Given the description of an element on the screen output the (x, y) to click on. 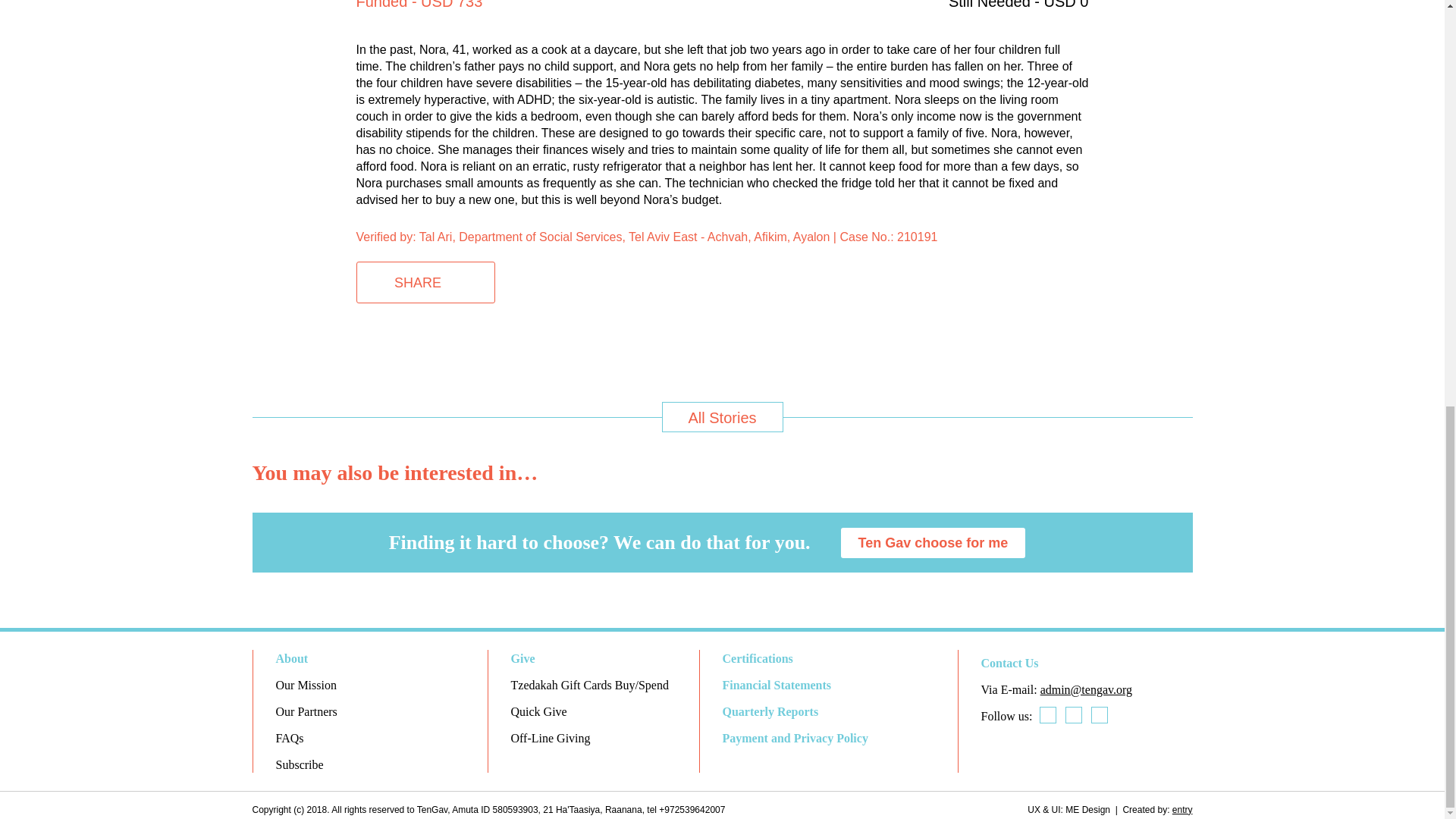
Give (523, 658)
Our Mission (306, 684)
Ten Gav choose for me (933, 542)
Our Partners (306, 711)
All Stories (722, 417)
SHARE (425, 282)
About (292, 658)
FAQs (290, 738)
Subscribe (299, 764)
